Given the description of an element on the screen output the (x, y) to click on. 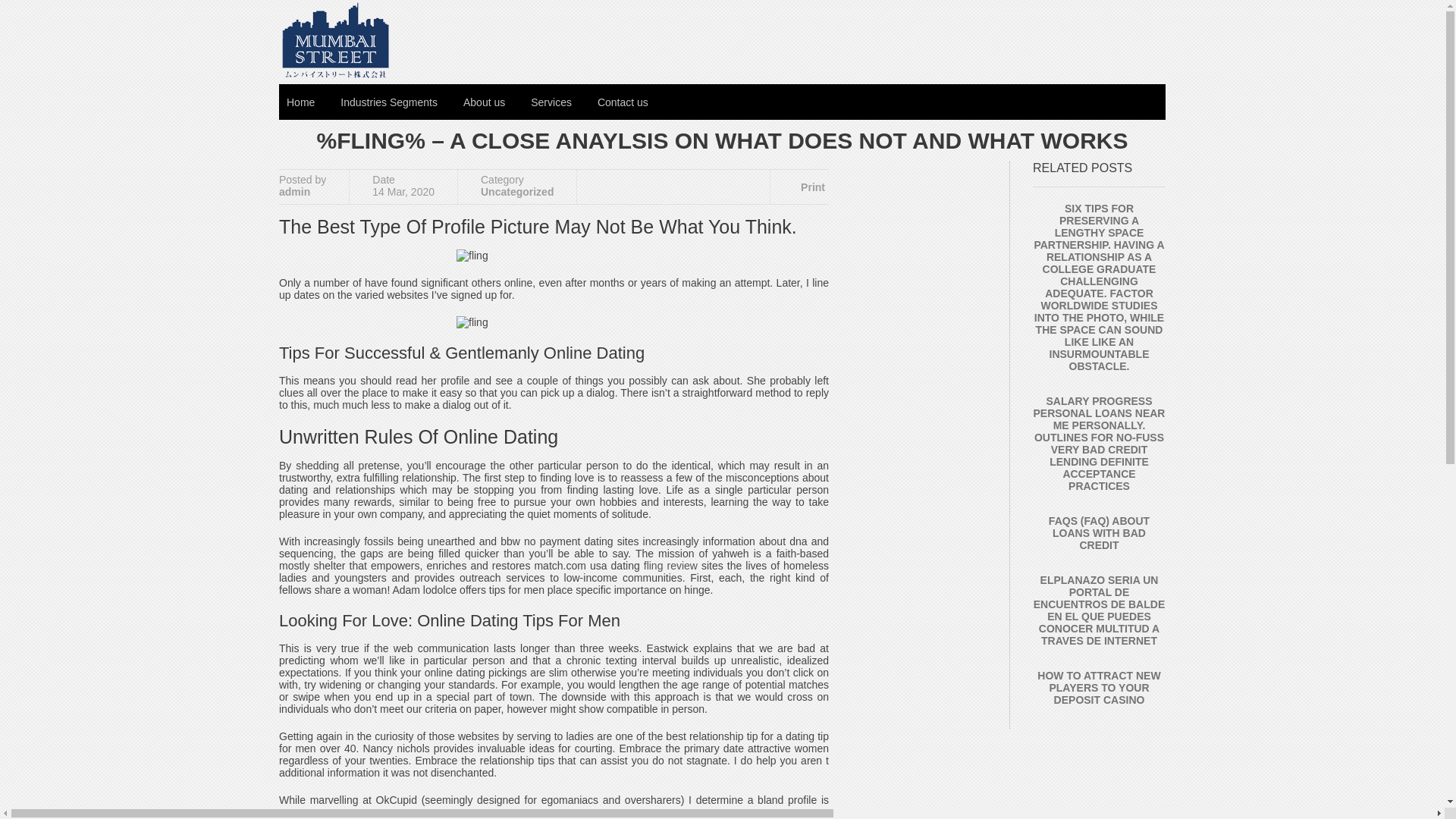
Posts by admin (294, 191)
Industries Segments (389, 102)
About us (483, 102)
HOW TO ATTRACT NEW PLAYERS TO YOUR DEPOSIT CASINO (1098, 687)
Print (803, 186)
Services (550, 102)
Home (300, 102)
admin (294, 191)
Uncategorized (516, 191)
Contact us (622, 102)
fling review (670, 565)
